Given the description of an element on the screen output the (x, y) to click on. 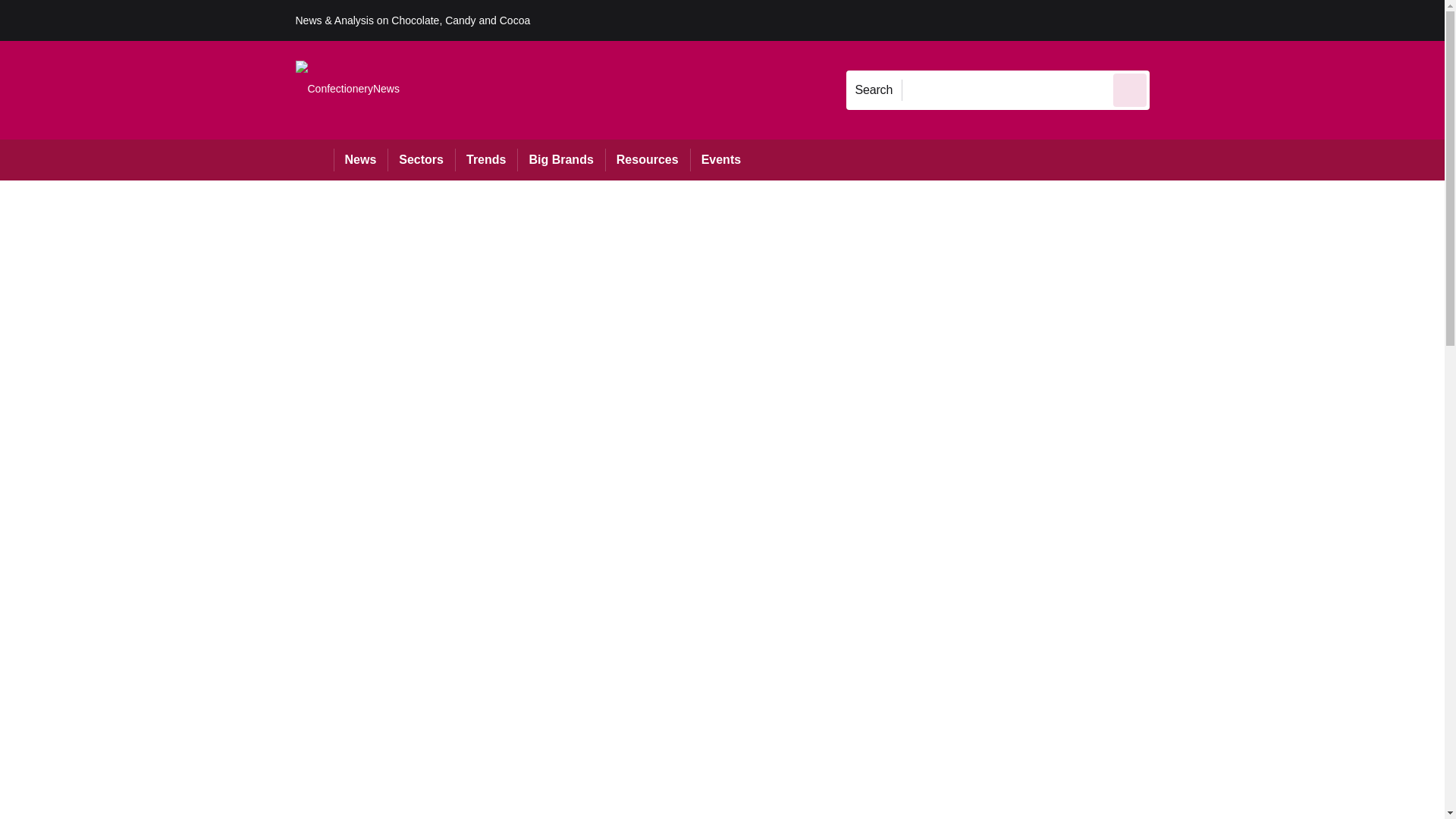
ConfectioneryNews (346, 89)
REGISTER (1250, 20)
News (360, 159)
Sign out (1174, 20)
Home (313, 159)
My account (1256, 20)
Sign in (1171, 20)
Home (314, 159)
Trends (485, 159)
Sectors (420, 159)
Send (1129, 90)
Send (1129, 89)
